Given the description of an element on the screen output the (x, y) to click on. 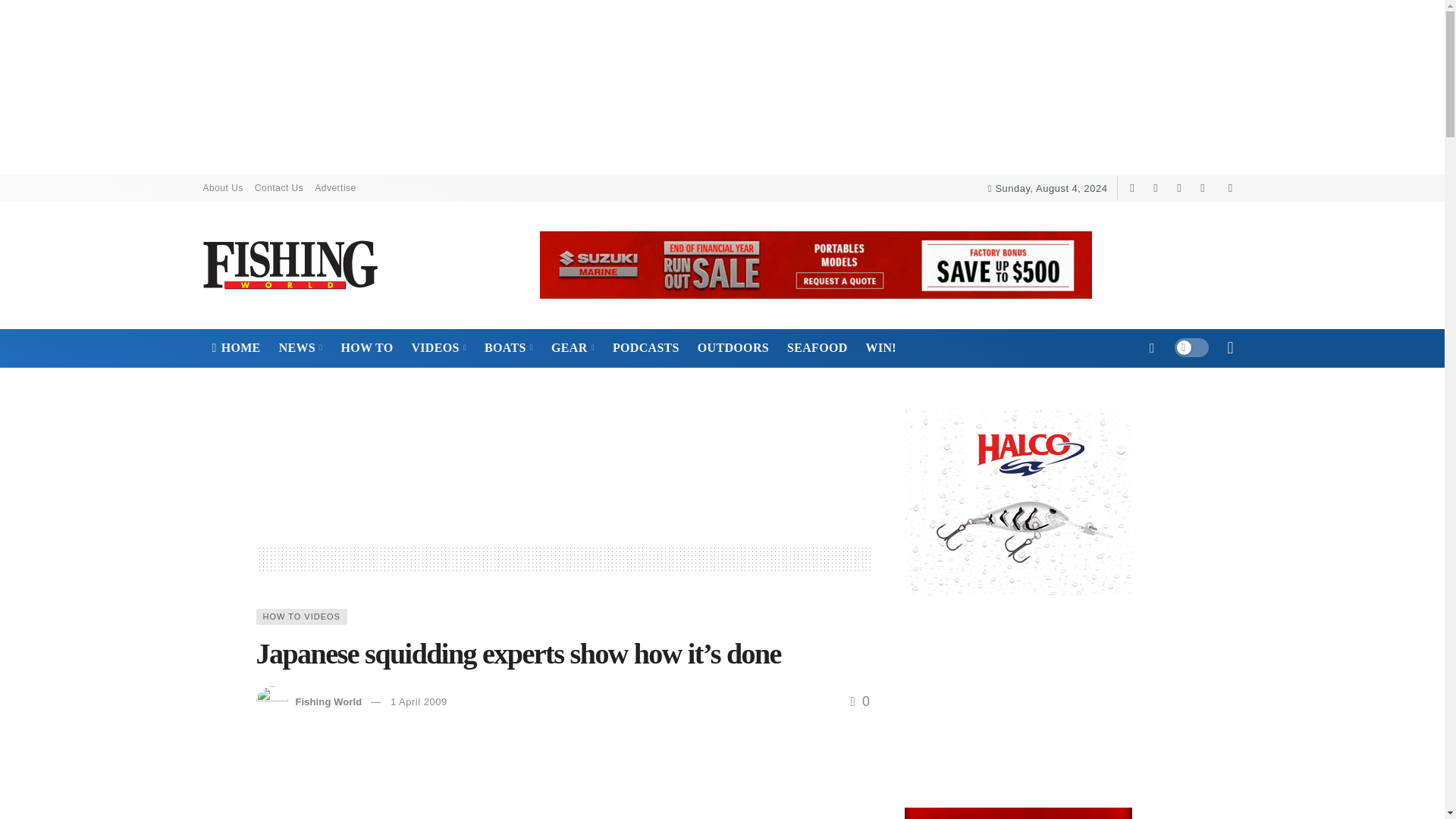
HOW TO (366, 347)
VIDEOS (438, 347)
SEAFOOD (817, 347)
OUTDOORS (732, 347)
About Us (228, 188)
Contact Us (284, 188)
Advertise (335, 188)
NEWS (300, 347)
GEAR (572, 347)
WIN! (881, 347)
